Given the description of an element on the screen output the (x, y) to click on. 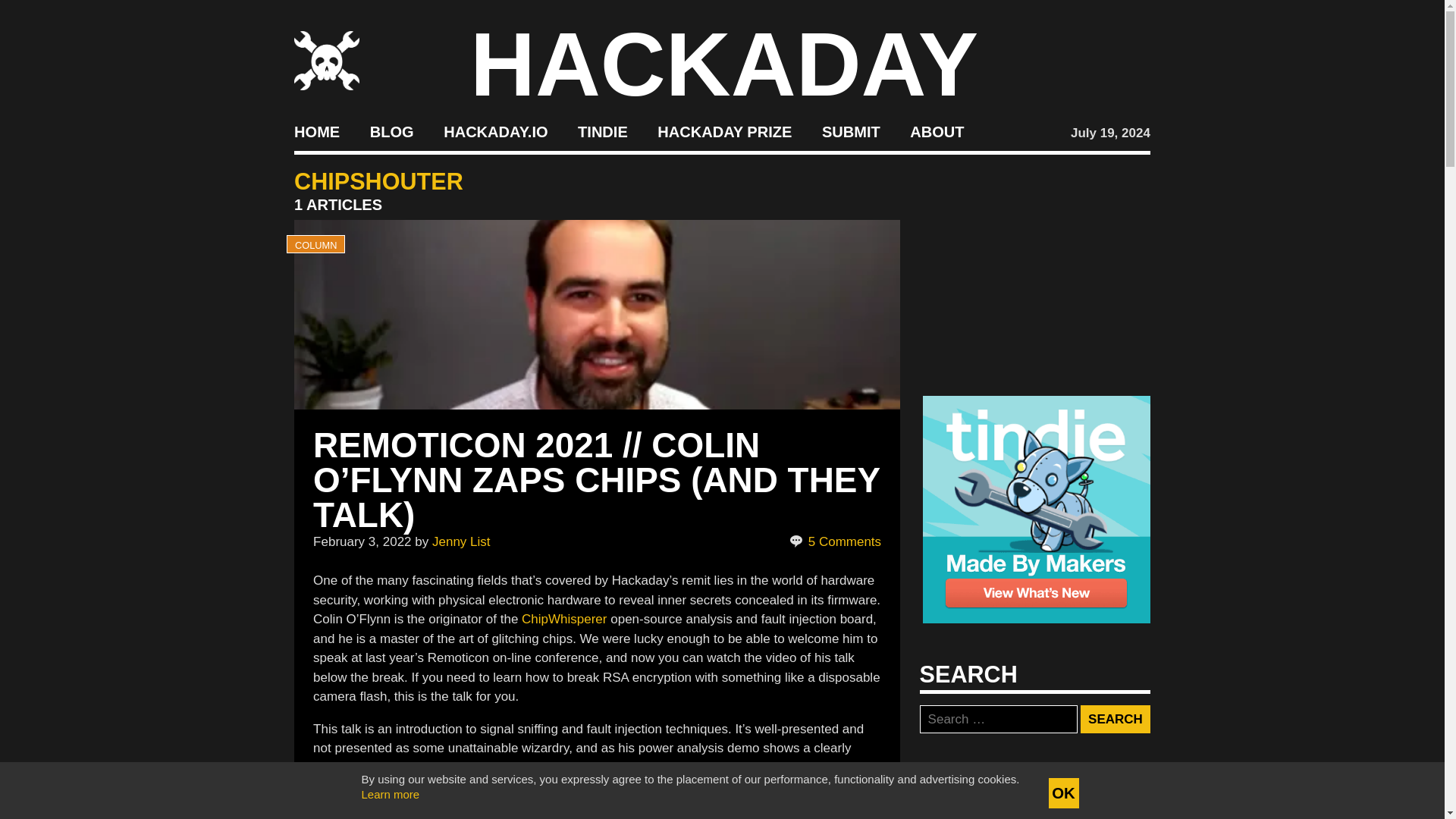
Search (1115, 719)
Jenny List (461, 541)
Build Something that Matters (725, 131)
Search (1115, 719)
TINDIE (602, 131)
HACKADAY PRIZE (725, 131)
Posts by Jenny List (461, 541)
BLOG (391, 131)
February 3, 2022 (361, 541)
HOME (316, 131)
HACKADAY (724, 63)
February 3, 2022 - 10:02 am (361, 541)
5 Comments (834, 542)
HACKADAY.IO (495, 131)
ABOUT (936, 131)
